Given the description of an element on the screen output the (x, y) to click on. 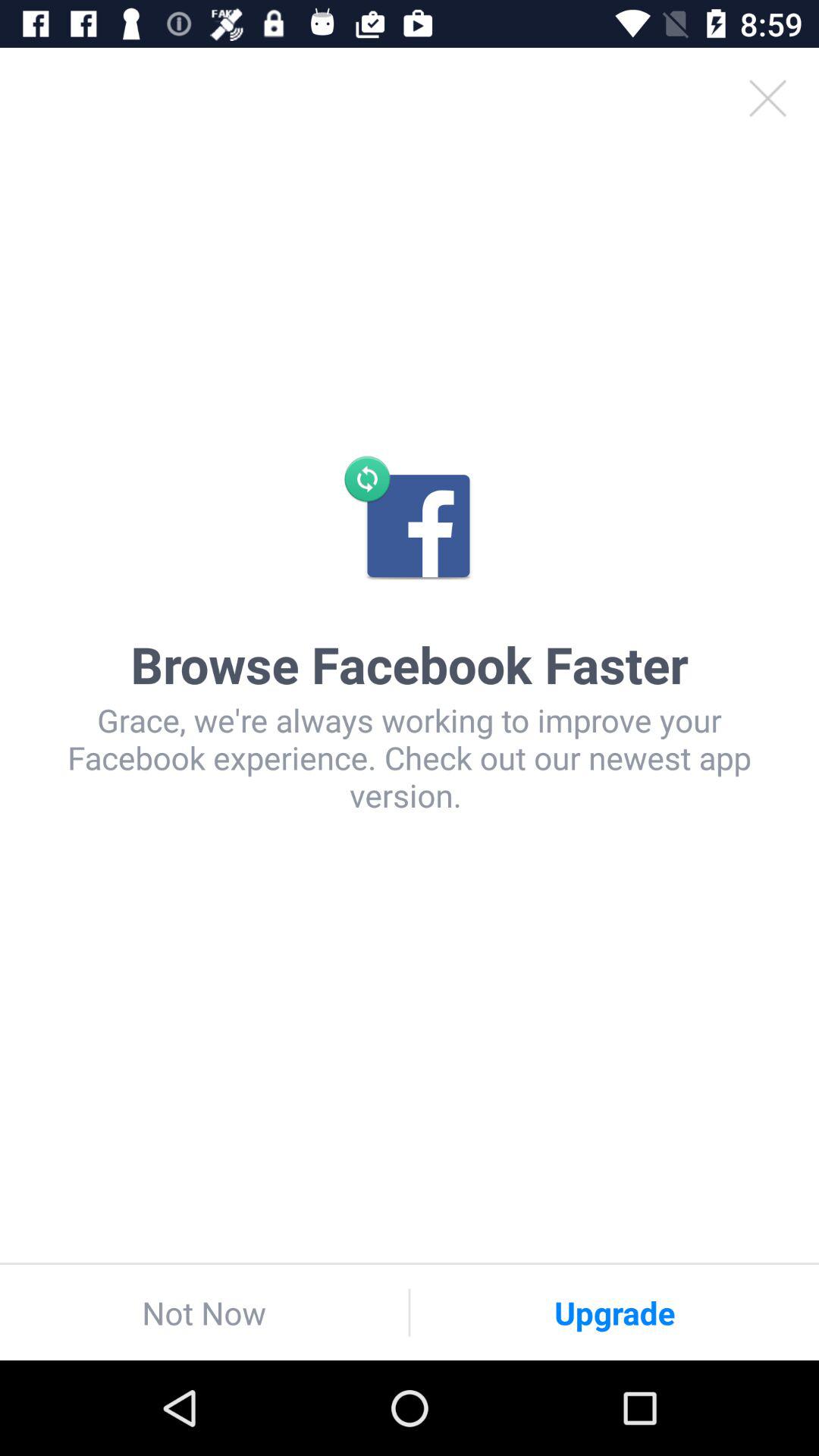
tap item above the browse facebook faster icon (768, 98)
